Given the description of an element on the screen output the (x, y) to click on. 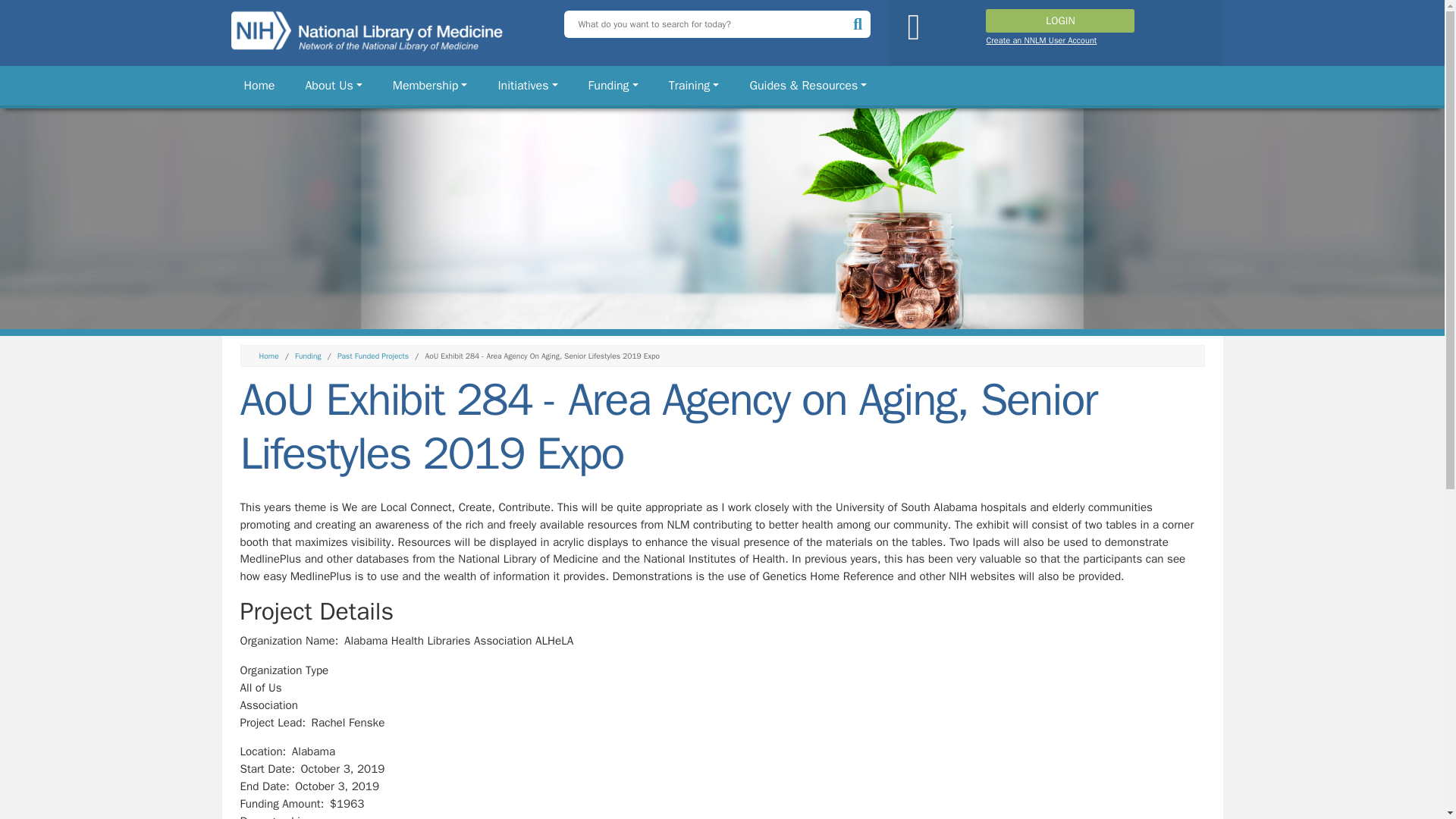
Membership (430, 85)
About Us (333, 85)
Create an NNLM User Account (1040, 40)
Home (259, 85)
NNLM Search Button (859, 22)
LOGIN (1059, 20)
